Given the description of an element on the screen output the (x, y) to click on. 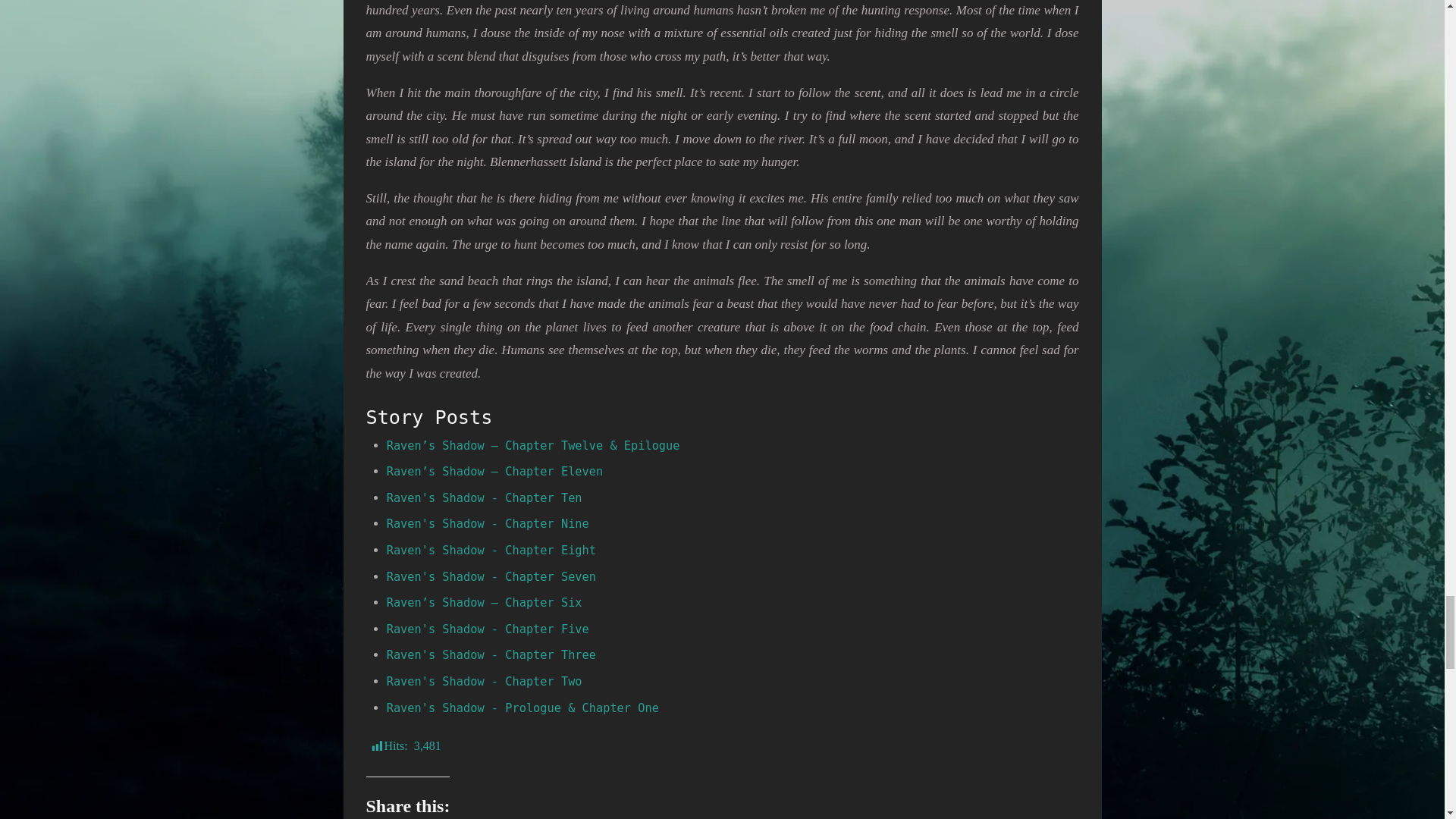
Raven's Shadow - Chapter Five (488, 629)
Raven's Shadow - Chapter Eight (491, 550)
Raven's Shadow - Chapter Three (491, 654)
Raven's Shadow - Chapter Ten (484, 498)
Raven's Shadow - Chapter Seven (491, 576)
Raven's Shadow - Chapter Two (484, 681)
Raven's Shadow - Chapter Nine (488, 523)
